Given the description of an element on the screen output the (x, y) to click on. 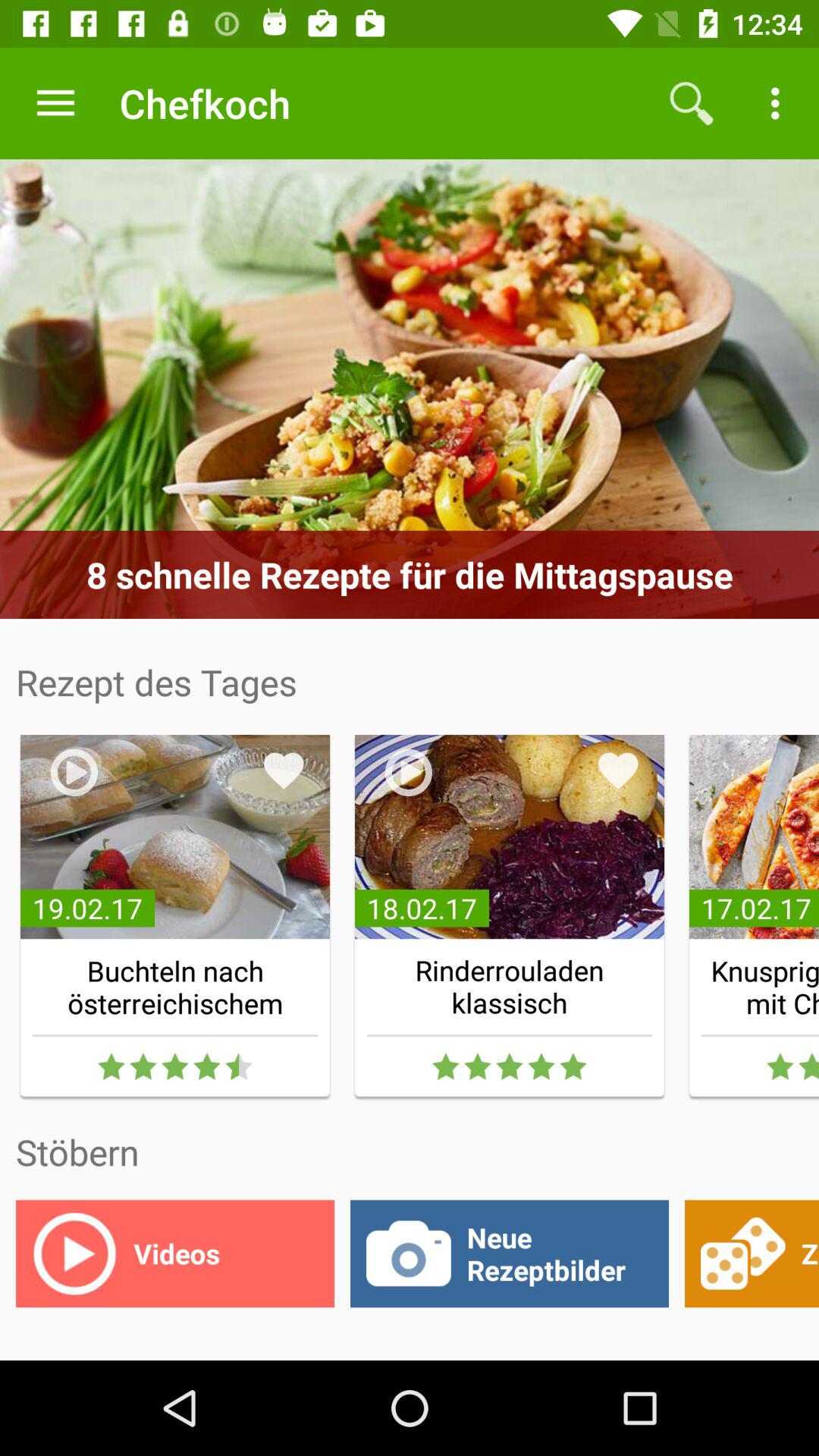
click the item below rezept des tages icon (283, 770)
